Given the description of an element on the screen output the (x, y) to click on. 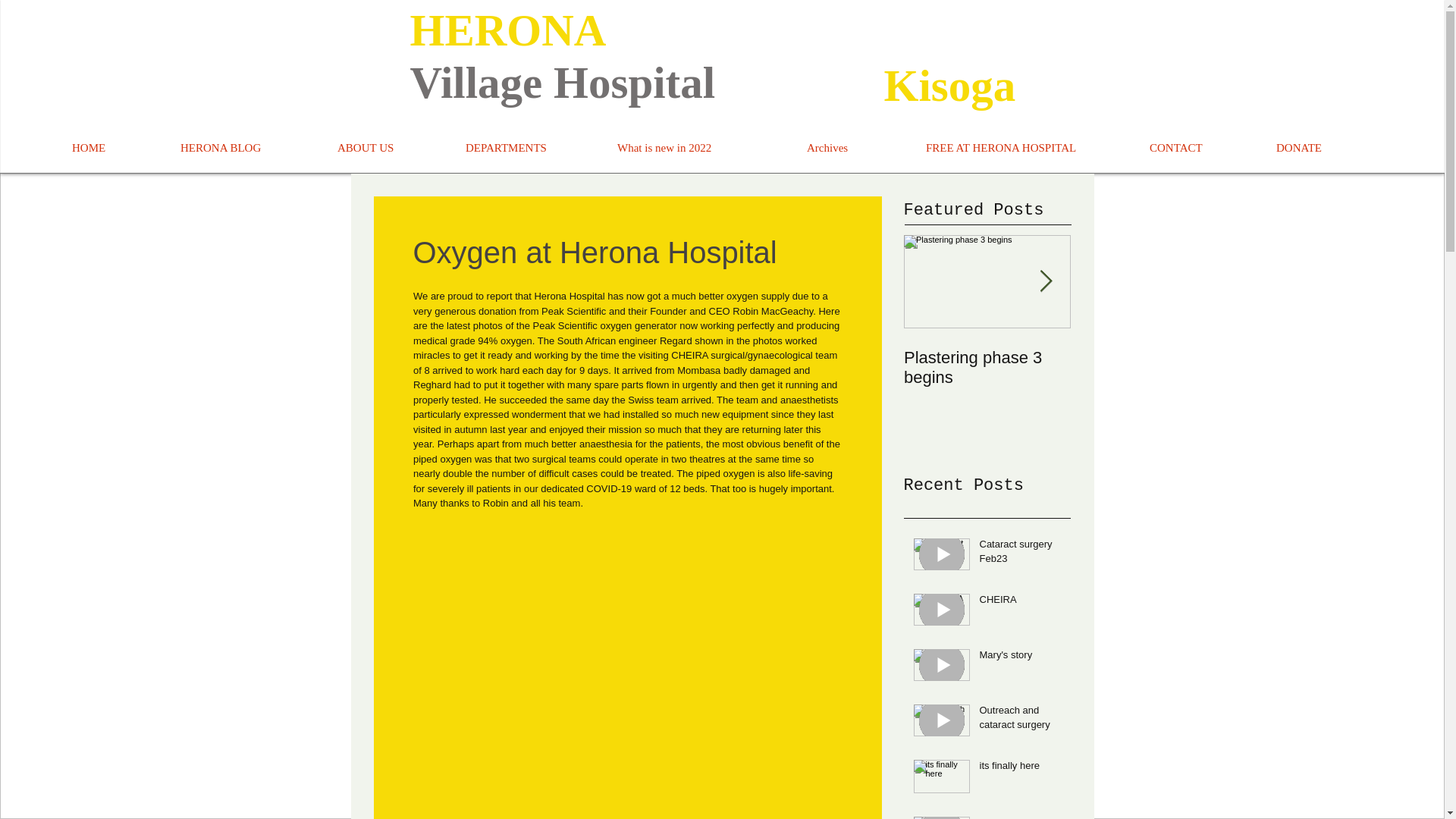
HERONA BLOG (247, 148)
DONATE (1324, 148)
FREE AT HERONA HOSPITAL (1026, 148)
HOME (114, 148)
What is new in 2022 (699, 148)
Plastering phase 3 begins (987, 367)
CONTACT (1201, 148)
A sad day at Herona (1153, 357)
DEPARTMENTS (529, 148)
ABOUT US (390, 148)
